Given the description of an element on the screen output the (x, y) to click on. 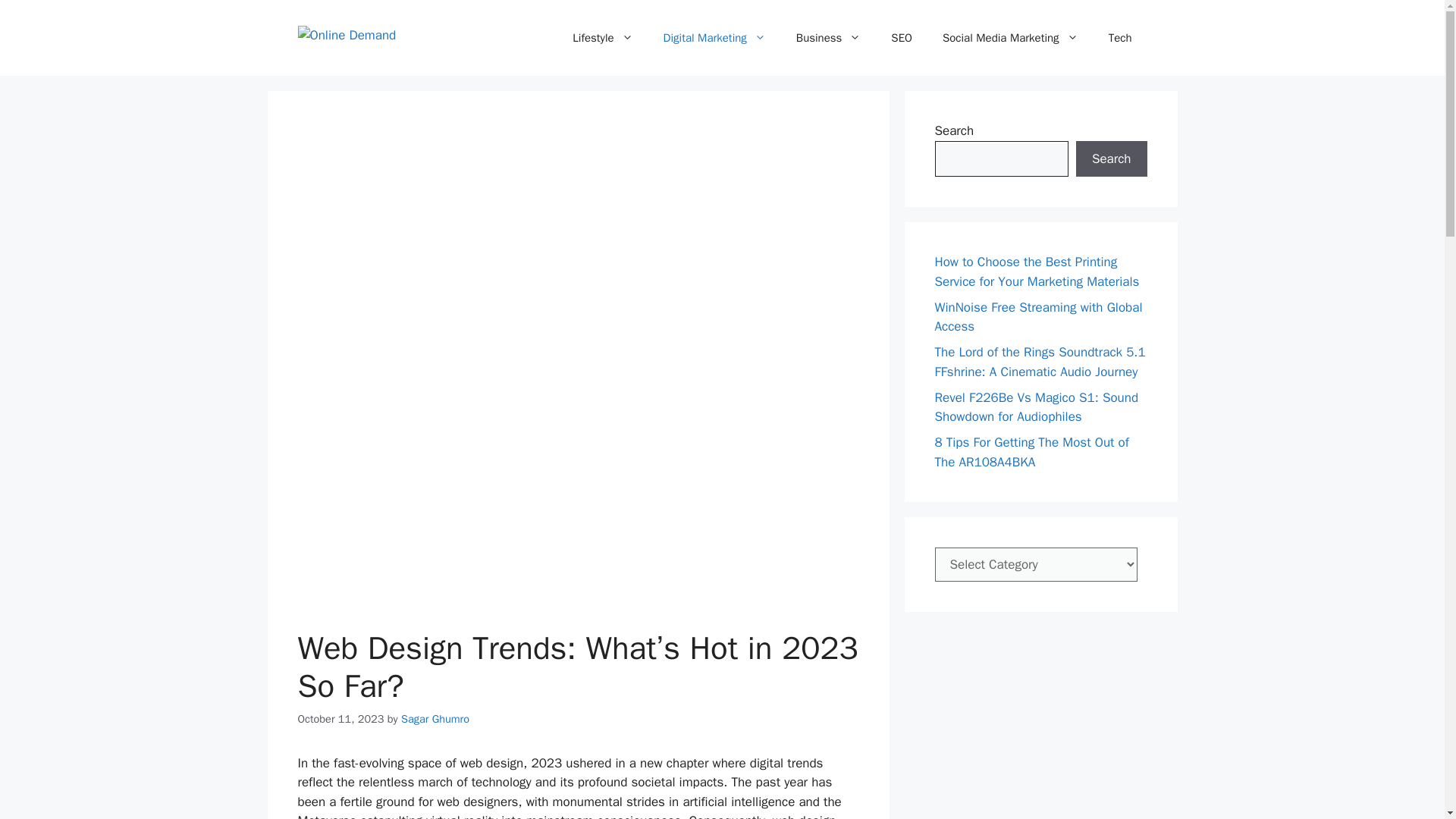
Tech (1120, 37)
Business (828, 37)
SEO (901, 37)
Revel F226Be Vs Magico S1: Sound Showdown for Audiophiles (1036, 407)
WinNoise Free Streaming with Global Access (1037, 316)
Social Media Marketing (1010, 37)
Lifestyle (602, 37)
Search (1111, 158)
View all posts by Sagar Ghumro (434, 718)
